Given the description of an element on the screen output the (x, y) to click on. 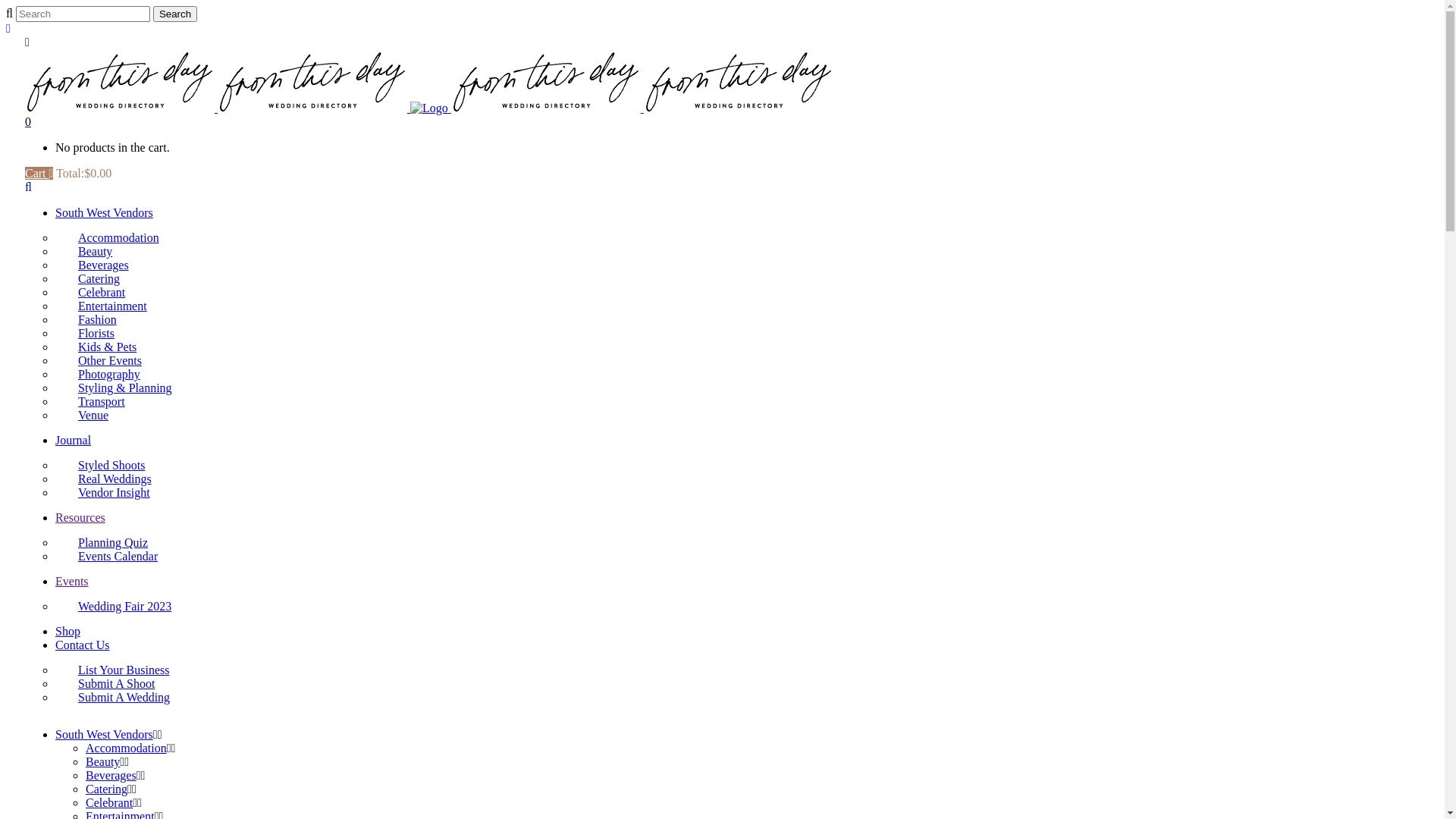
Celebrant Element type: text (108, 802)
Contact Us Element type: text (82, 644)
Styled Shoots Element type: text (99, 464)
Catering Element type: text (87, 278)
Submit A Shoot Element type: text (104, 683)
Other Events Element type: text (98, 360)
Submit A Wedding Element type: text (112, 696)
Accommodation Element type: text (125, 747)
Wedding Fair 2023 Element type: text (113, 605)
Planning Quiz Element type: text (101, 542)
Kids & Pets Element type: text (95, 346)
Shop Element type: text (67, 630)
Cart Element type: text (39, 172)
Florists Element type: text (84, 332)
Beverages Element type: text (110, 774)
Celebrant Element type: text (90, 291)
Events Calendar Element type: text (106, 555)
Journal Element type: text (73, 439)
Venue Element type: text (81, 414)
0 Element type: text (28, 121)
Real Weddings Element type: text (103, 478)
South West Vendors Element type: text (104, 734)
Beauty Element type: text (102, 761)
South West Vendors Element type: text (104, 212)
Transport Element type: text (90, 401)
Styling & Planning Element type: text (113, 387)
Search Element type: text (175, 13)
Accommodation Element type: text (107, 237)
Events Element type: text (71, 580)
Catering Element type: text (106, 788)
List Your Business Element type: text (112, 669)
Photography Element type: text (97, 373)
Entertainment Element type: text (101, 305)
Fashion Element type: text (85, 319)
Resources Element type: text (80, 517)
Beauty Element type: text (83, 250)
Vendor Insight Element type: text (102, 492)
Beverages Element type: text (91, 264)
